Given the description of an element on the screen output the (x, y) to click on. 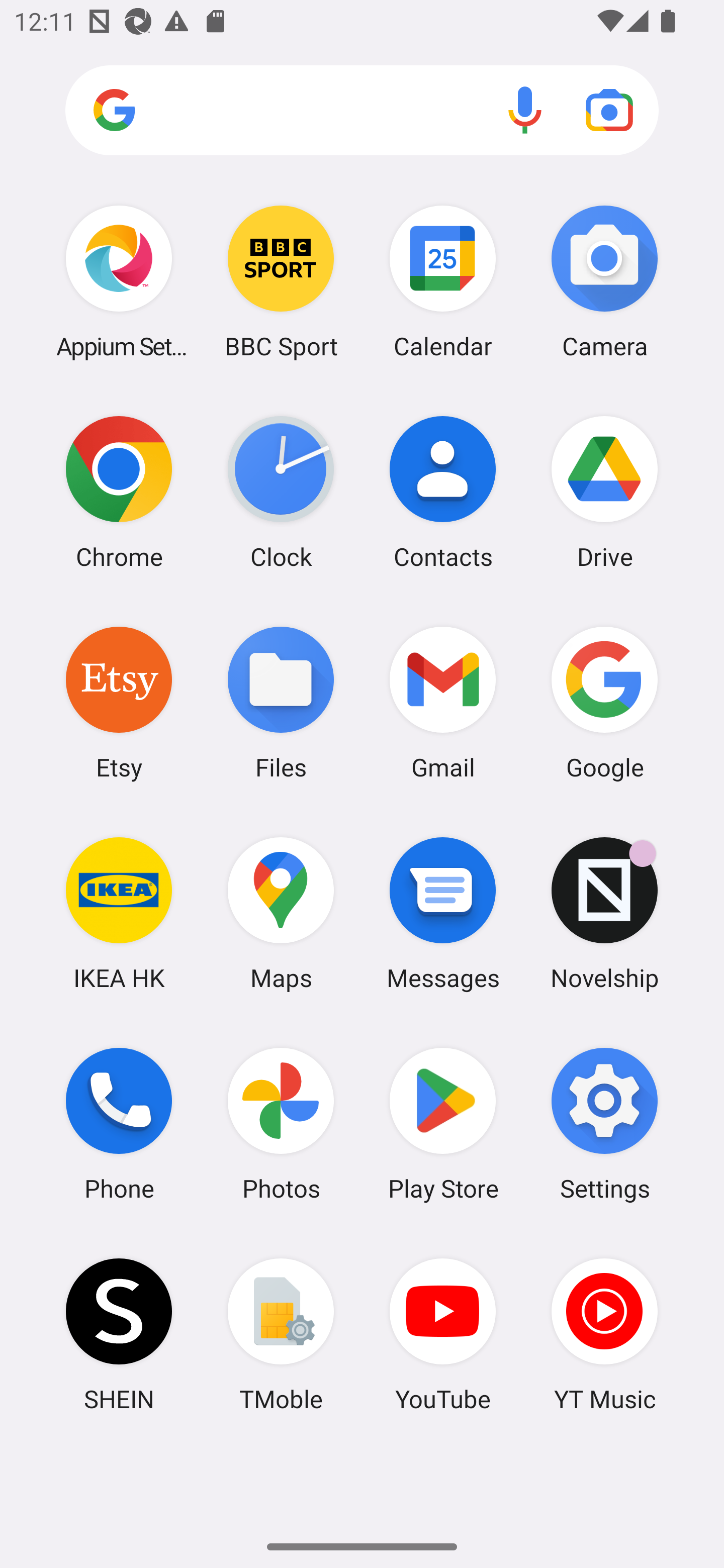
Search apps, web and more (361, 110)
Voice search (524, 109)
Google Lens (608, 109)
Appium Settings (118, 281)
BBC Sport (280, 281)
Calendar (443, 281)
Camera (604, 281)
Chrome (118, 492)
Clock (280, 492)
Contacts (443, 492)
Drive (604, 492)
Etsy (118, 702)
Files (280, 702)
Gmail (443, 702)
Google (604, 702)
IKEA HK (118, 913)
Maps (280, 913)
Messages (443, 913)
Novelship Novelship has 7 notifications (604, 913)
Phone (118, 1124)
Photos (280, 1124)
Play Store (443, 1124)
Settings (604, 1124)
SHEIN (118, 1334)
TMoble (280, 1334)
YouTube (443, 1334)
YT Music (604, 1334)
